Given the description of an element on the screen output the (x, y) to click on. 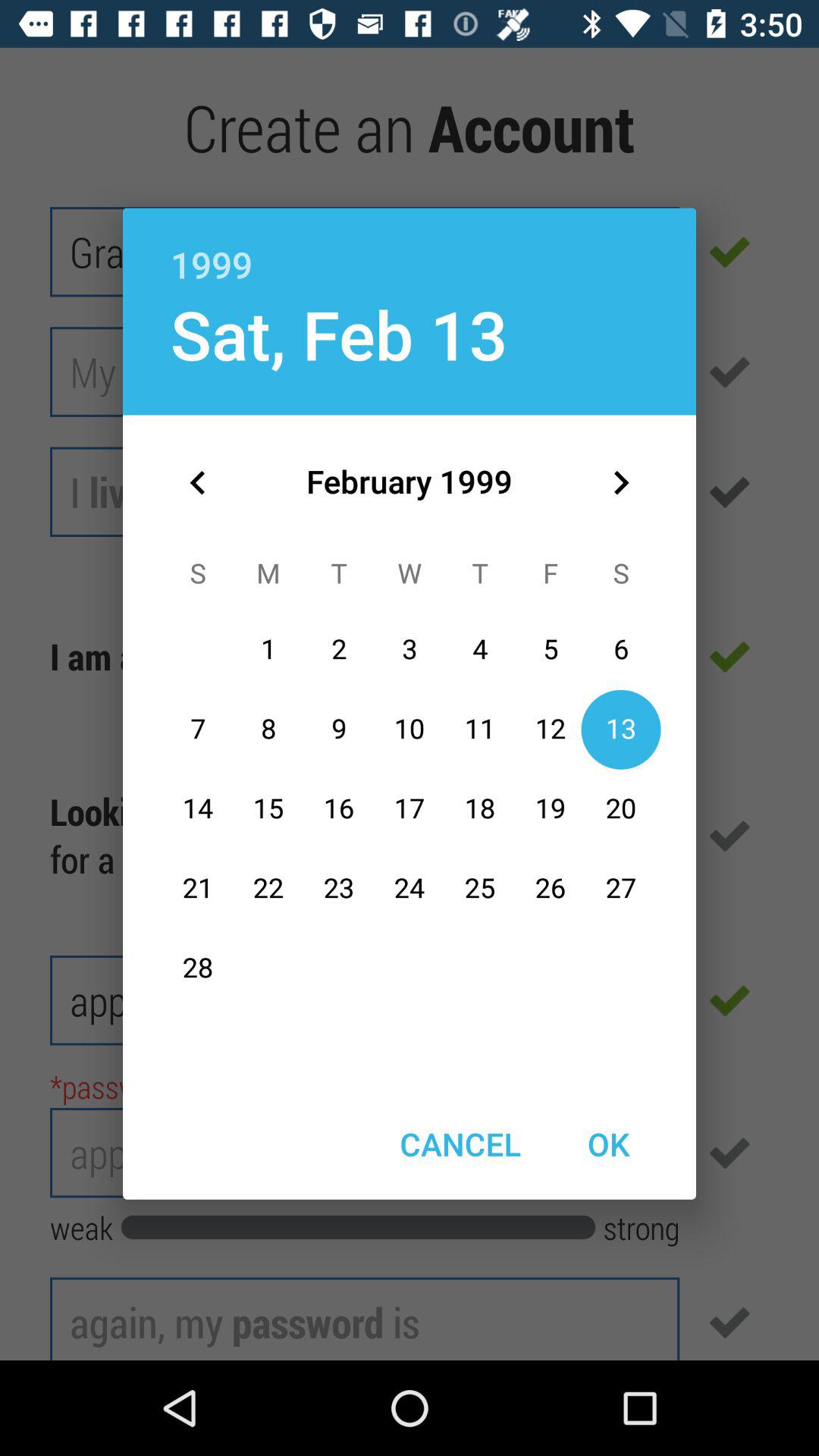
launch the item below 1999 item (620, 482)
